Given the description of an element on the screen output the (x, y) to click on. 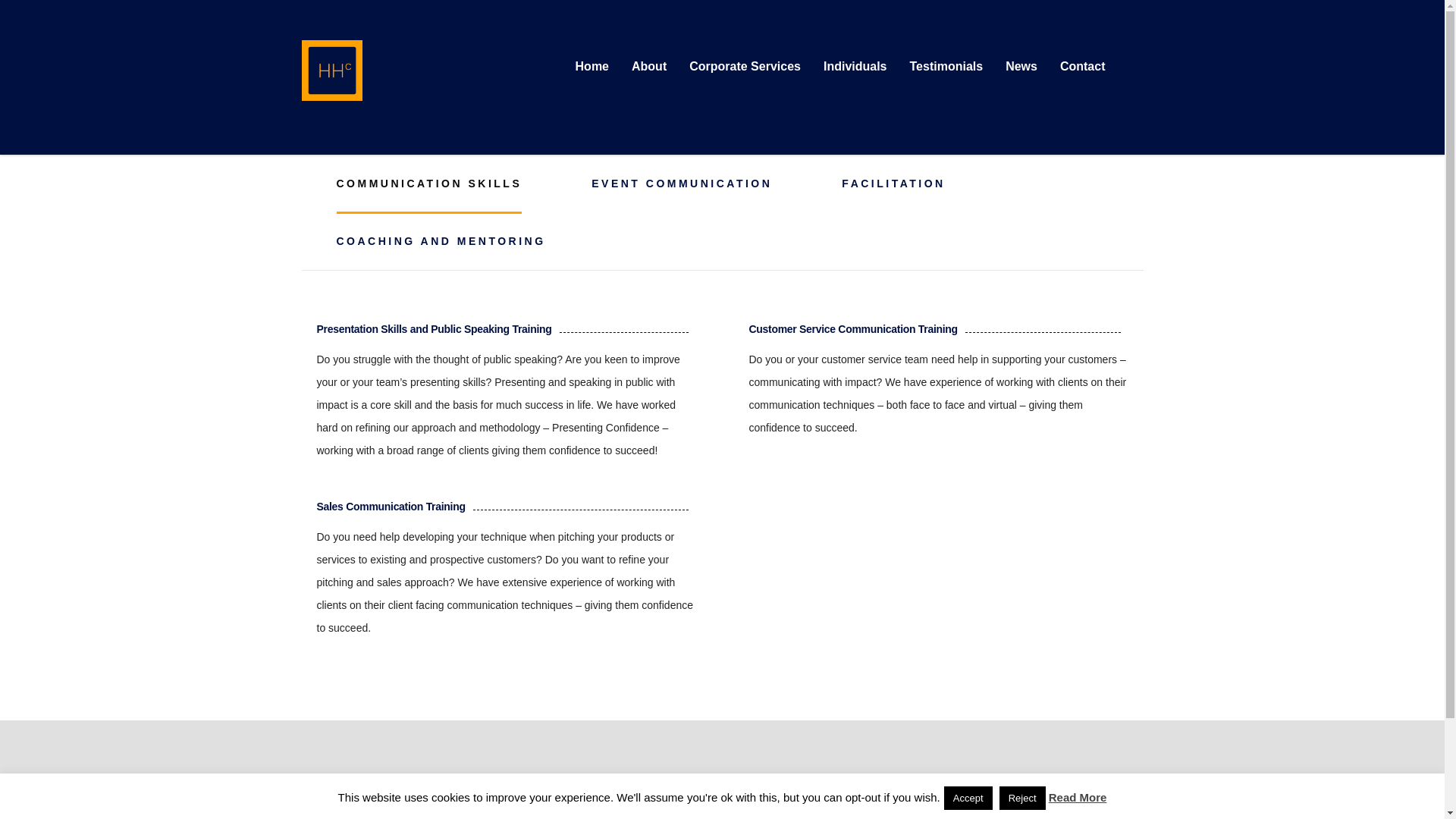
Contact (1082, 66)
About (649, 66)
Sales Communication Training (391, 506)
EVENT COMMUNICATION (681, 183)
Home (592, 66)
Corporate Services (745, 66)
FACILITATION (892, 183)
Individuals (855, 66)
Testimonials (946, 66)
COMMUNICATION SKILLS (429, 183)
Presentation Skills and Public Speaking Training (434, 328)
News (1021, 66)
COACHING AND MENTORING (441, 241)
Customer Service Communication Training (853, 328)
